Given the description of an element on the screen output the (x, y) to click on. 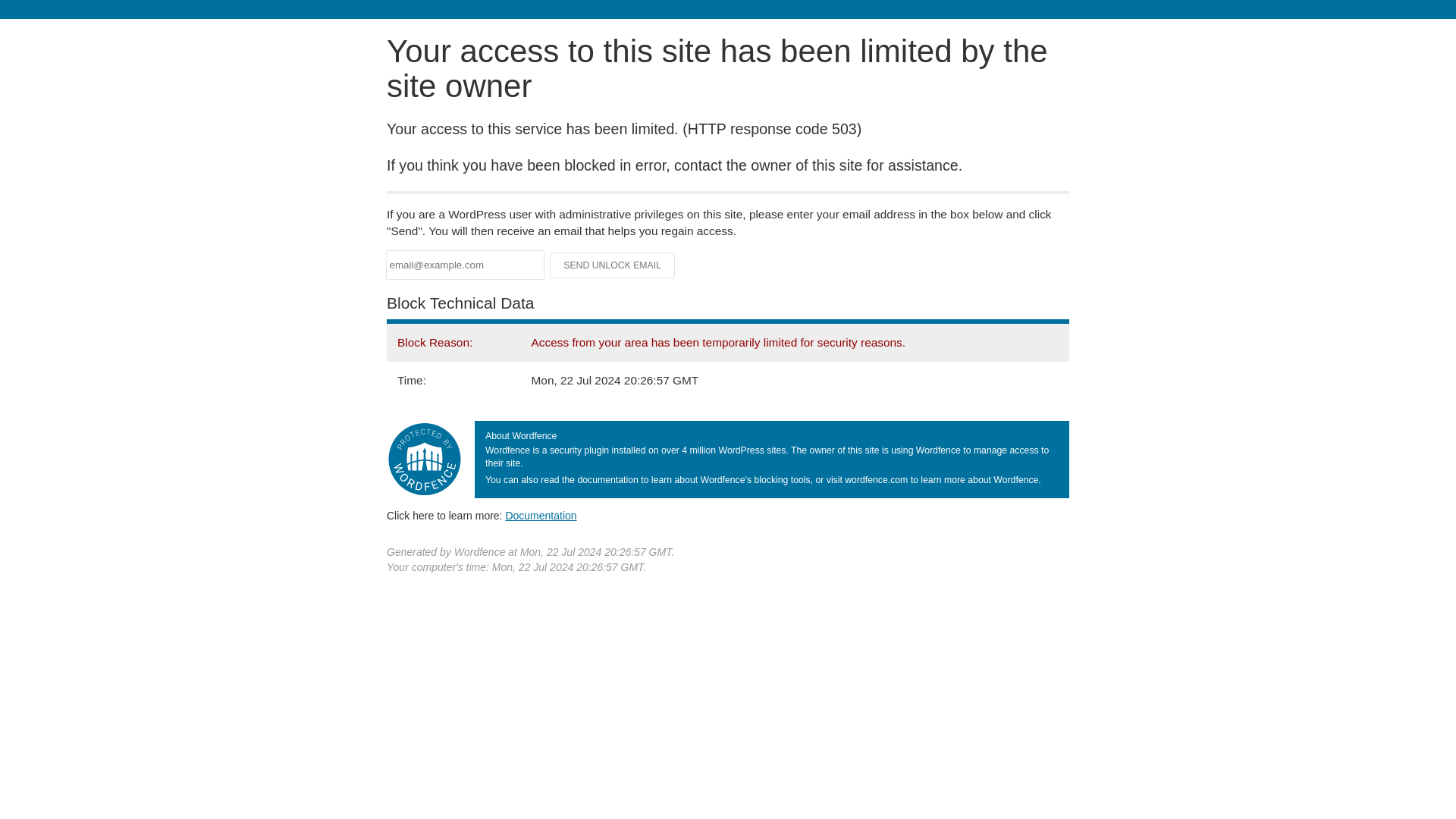
Documentation (540, 515)
Send Unlock Email (612, 265)
Send Unlock Email (612, 265)
